Given the description of an element on the screen output the (x, y) to click on. 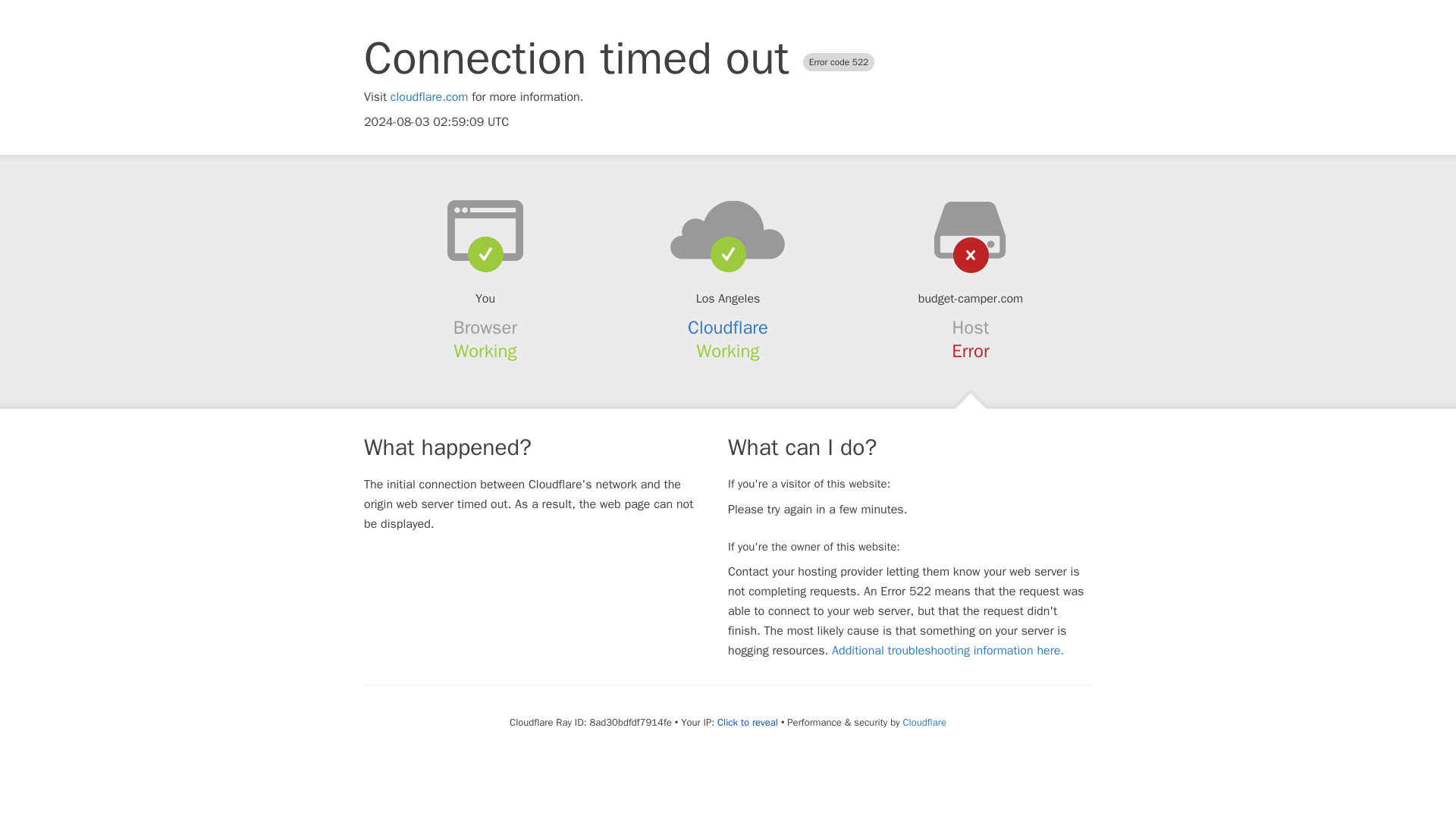
Cloudflare (924, 721)
cloudflare.com (429, 96)
Click to reveal (747, 722)
Cloudflare (727, 327)
Additional troubleshooting information here. (947, 650)
